Given the description of an element on the screen output the (x, y) to click on. 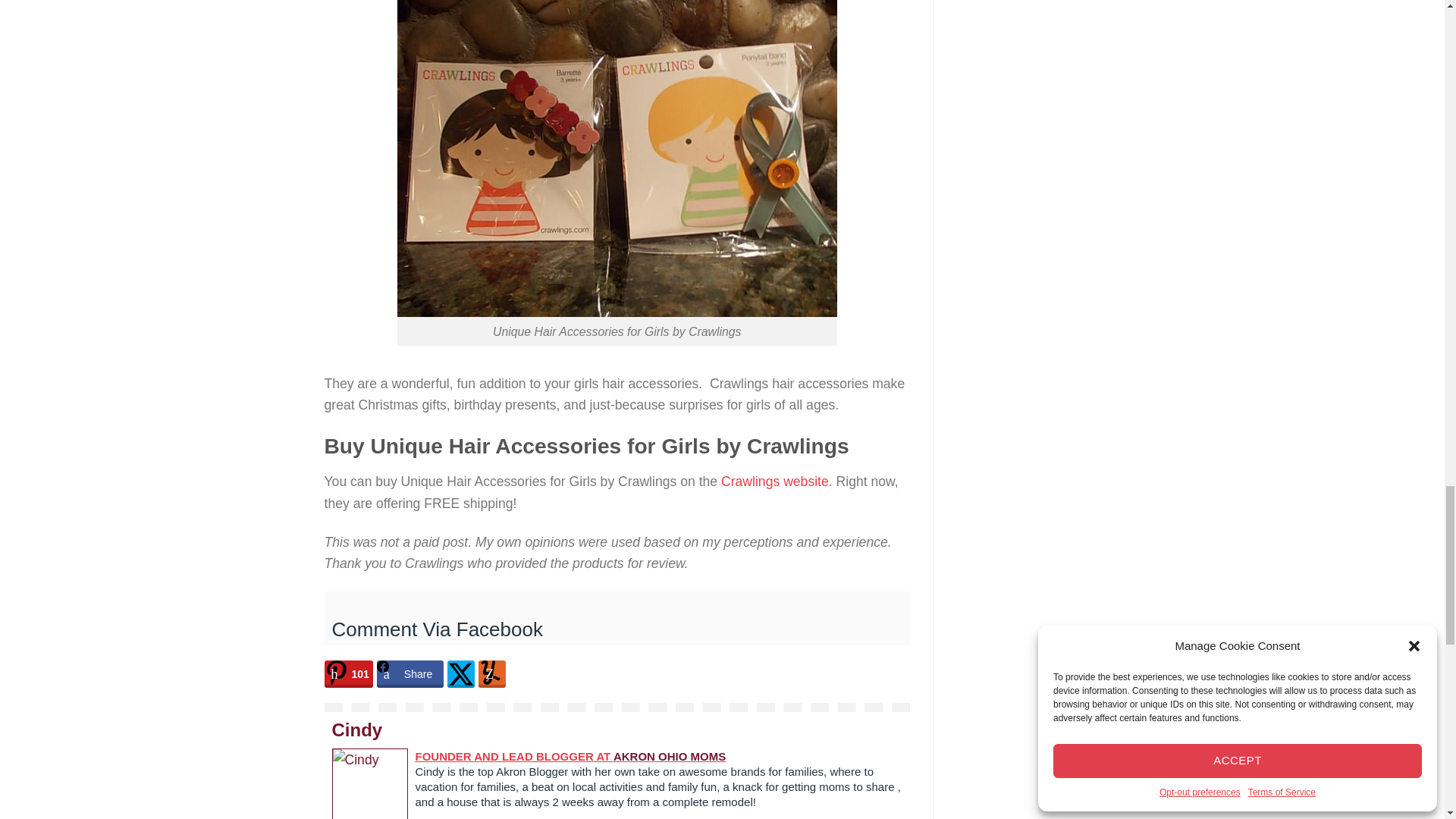
Share on - (348, 673)
Share on Share (410, 673)
Share on - (460, 673)
